Given the description of an element on the screen output the (x, y) to click on. 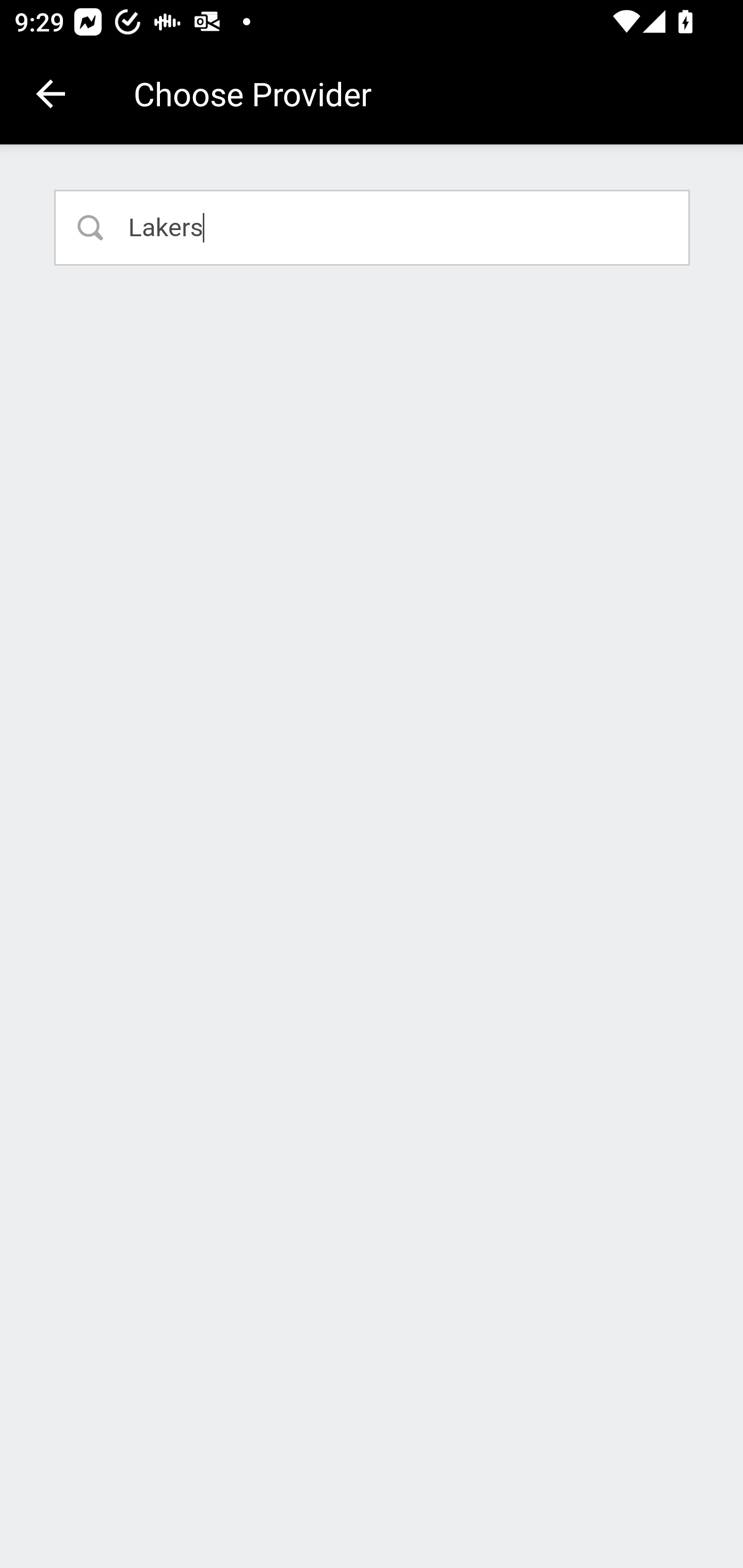
Navigate up (50, 93)
Lakers (372, 227)
